Given the description of an element on the screen output the (x, y) to click on. 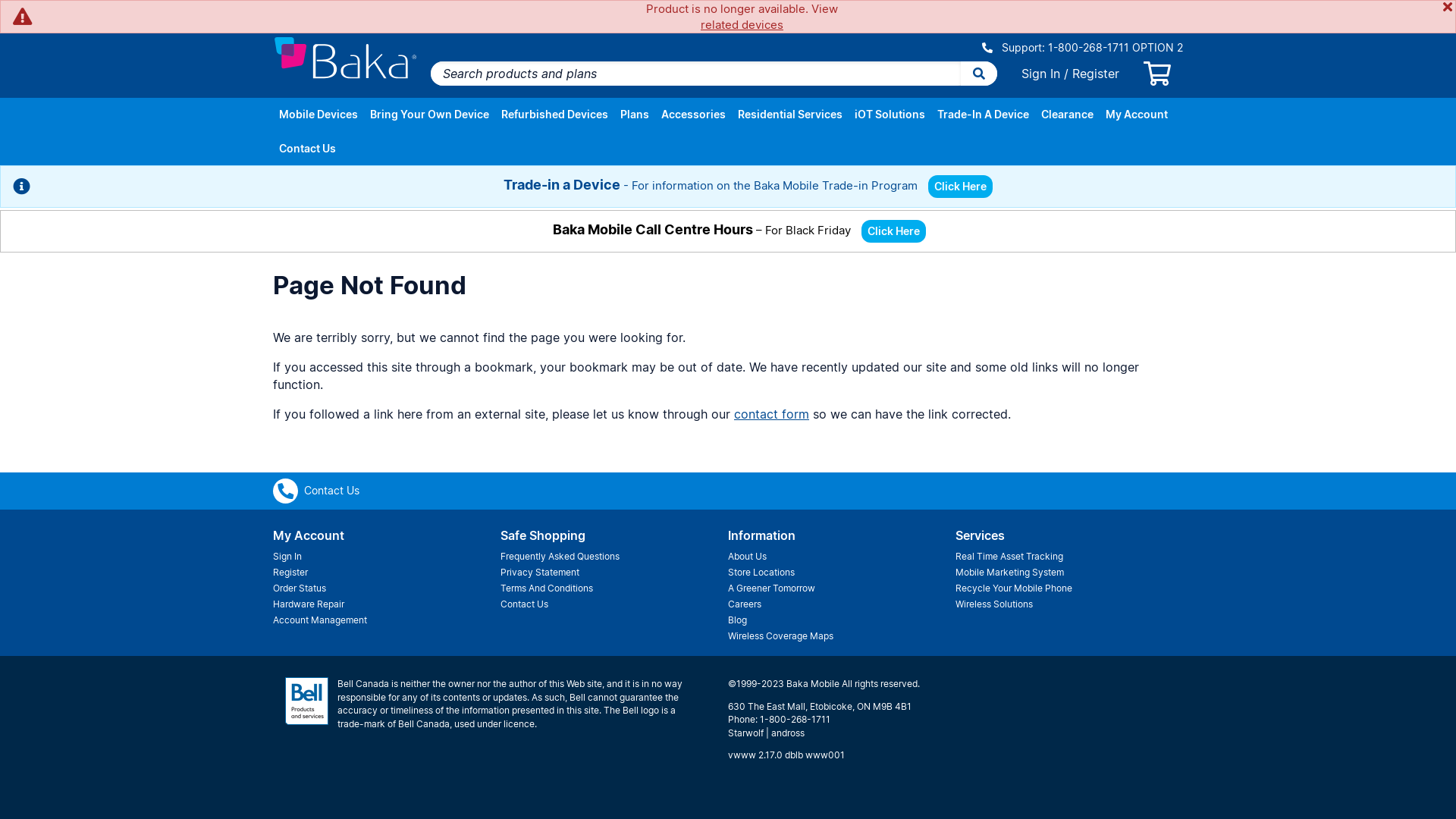
Privacy Statement Element type: text (614, 572)
Store Locations Element type: text (841, 572)
Wireless Solutions Element type: text (1069, 603)
MEMBERS Element type: text (345, 10)
Sign In Element type: text (386, 556)
Real Time Asset Tracking Element type: text (1069, 556)
A Element type: text (1173, 9)
Frequently Asked Questions Element type: text (614, 556)
iOT Solutions Element type: text (889, 114)
Blog Element type: text (841, 619)
A Greener Tomorrow Element type: text (841, 588)
Recycle Your Mobile Phone Element type: text (1069, 588)
Contact Us Element type: text (316, 489)
Click Here Element type: text (893, 230)
Click Here Element type: text (960, 186)
Terms And Conditions Element type: text (614, 588)
Hardware Repair Element type: text (386, 603)
Clearance Element type: text (1067, 114)
Register Element type: text (386, 572)
Click Here Element type: text (960, 185)
Wireless Coverage Maps Element type: text (841, 635)
Refurbished Devices Element type: text (554, 114)
Contact Us Element type: text (614, 603)
Accessories Element type: text (693, 114)
Mobile Devices Element type: text (318, 114)
A Element type: text (1157, 10)
Plans Element type: text (634, 114)
ENGLISH Element type: text (728, 10)
About Us Element type: text (841, 556)
Register Element type: text (1095, 73)
CORPORATE Element type: text (401, 10)
Sign In Element type: text (1040, 73)
Bring Your Own Device Element type: text (429, 114)
Mobile Marketing System Element type: text (1069, 572)
Order Status Element type: text (386, 588)
contact form Element type: text (771, 413)
Trade-In A Device Element type: text (983, 114)
My Account Element type: text (1136, 114)
Account Management Element type: text (386, 619)
Residential Services Element type: text (789, 114)
Contact Us Element type: text (307, 148)
A Element type: text (1139, 11)
Careers Element type: text (841, 603)
PERSONAL Element type: text (293, 10)
related devices Element type: text (741, 24)
Click Here Element type: text (893, 229)
